Given the description of an element on the screen output the (x, y) to click on. 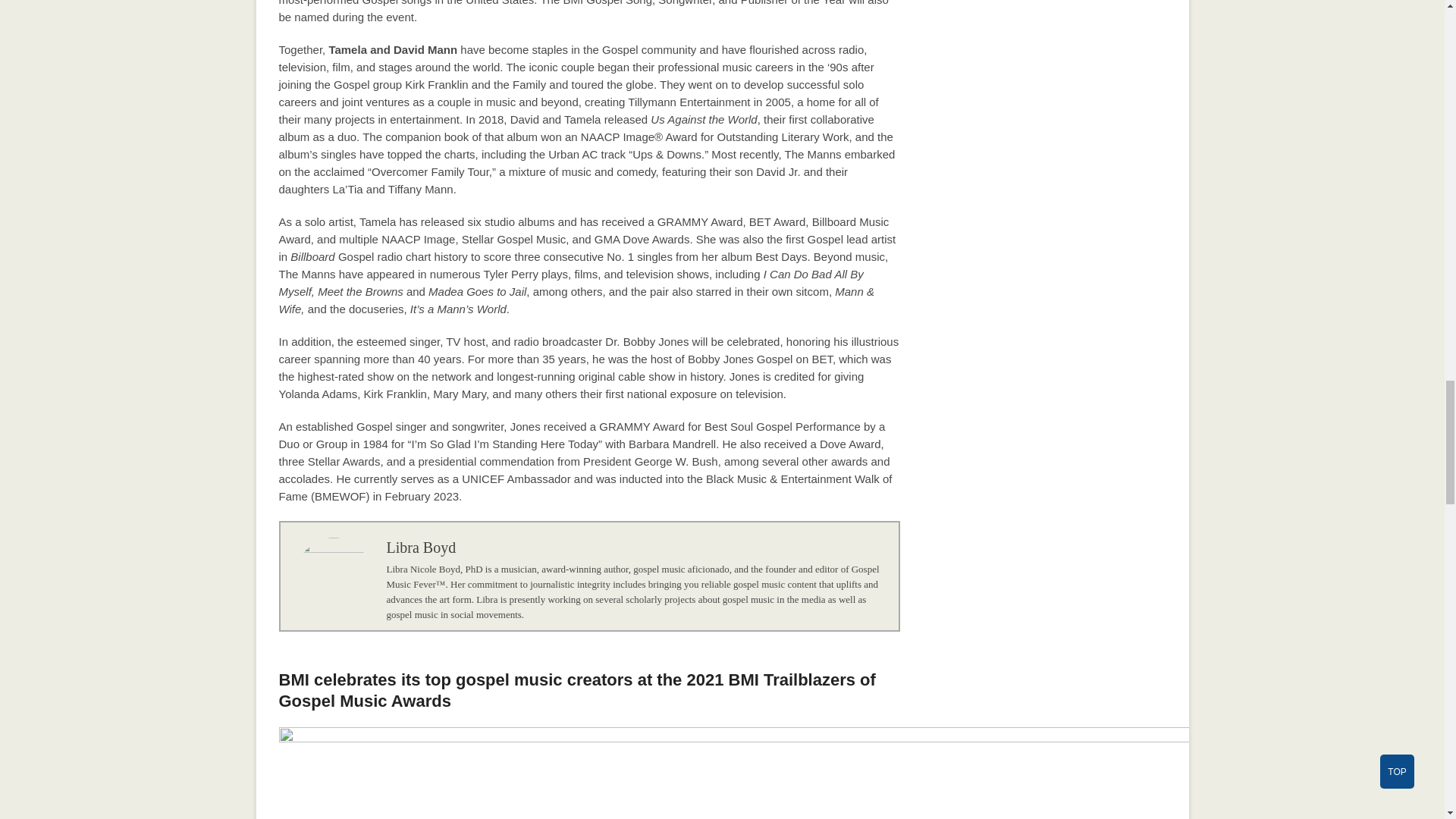
Libra Boyd (422, 547)
